Given the description of an element on the screen output the (x, y) to click on. 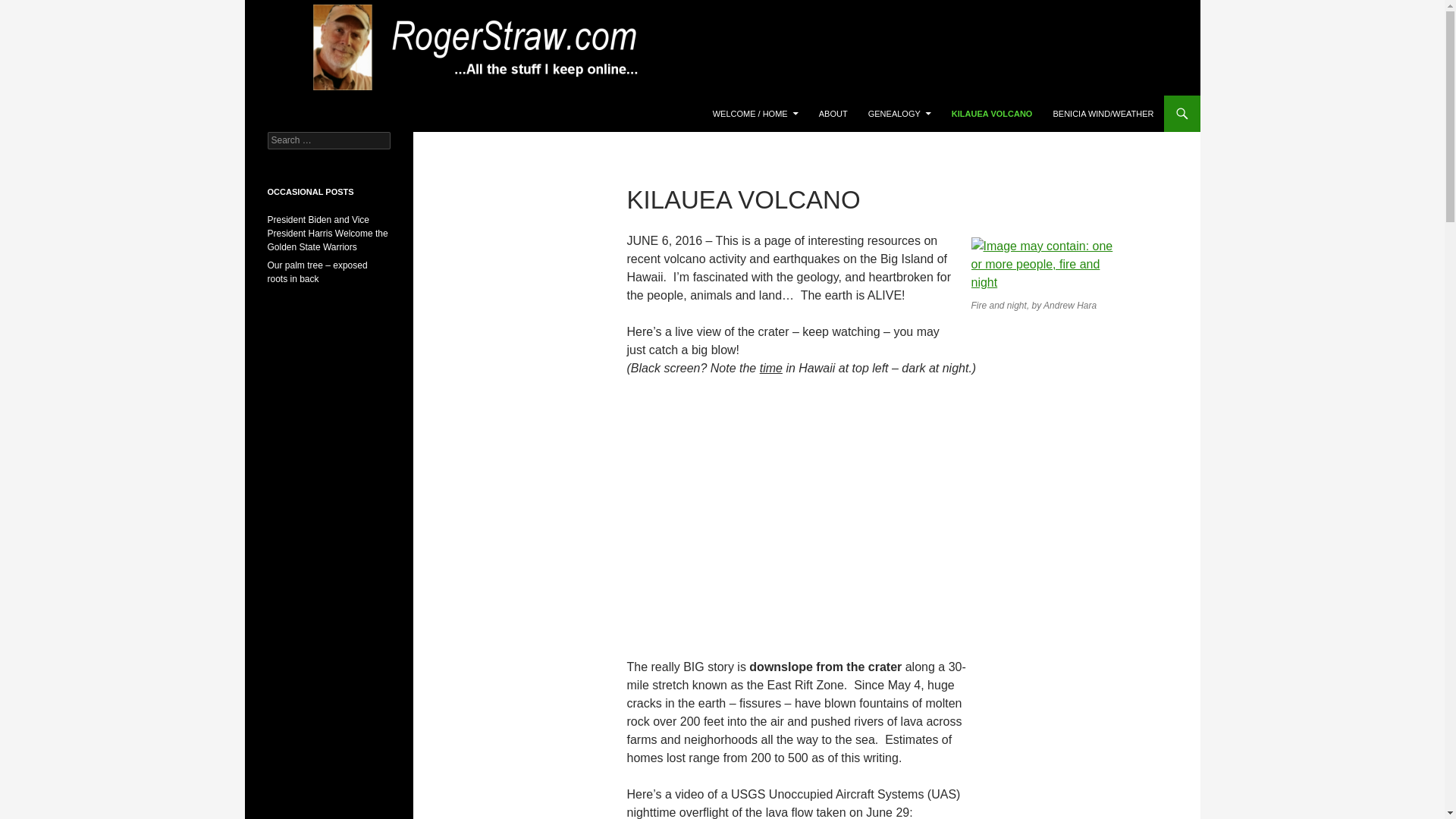
GENEALOGY (899, 113)
ABOUT (833, 113)
RogerStraw.com (320, 113)
KILAUEA VOLCANO (992, 113)
Search (30, 8)
